Given the description of an element on the screen output the (x, y) to click on. 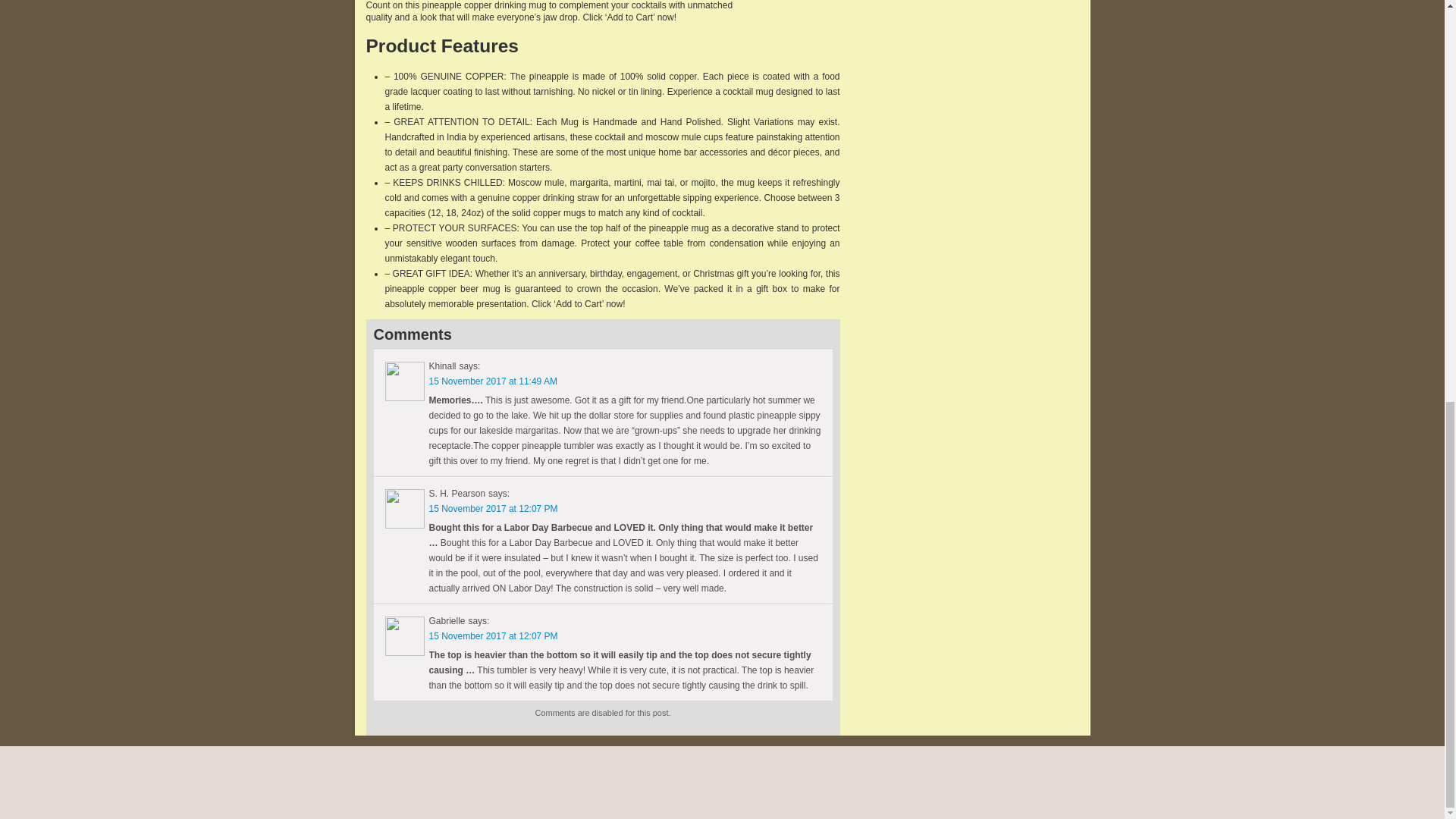
15 November 2017 at 12:07 PM (493, 508)
15 November 2017 at 11:49 AM (493, 380)
15 November 2017 at 12:07 PM (493, 635)
